Given the description of an element on the screen output the (x, y) to click on. 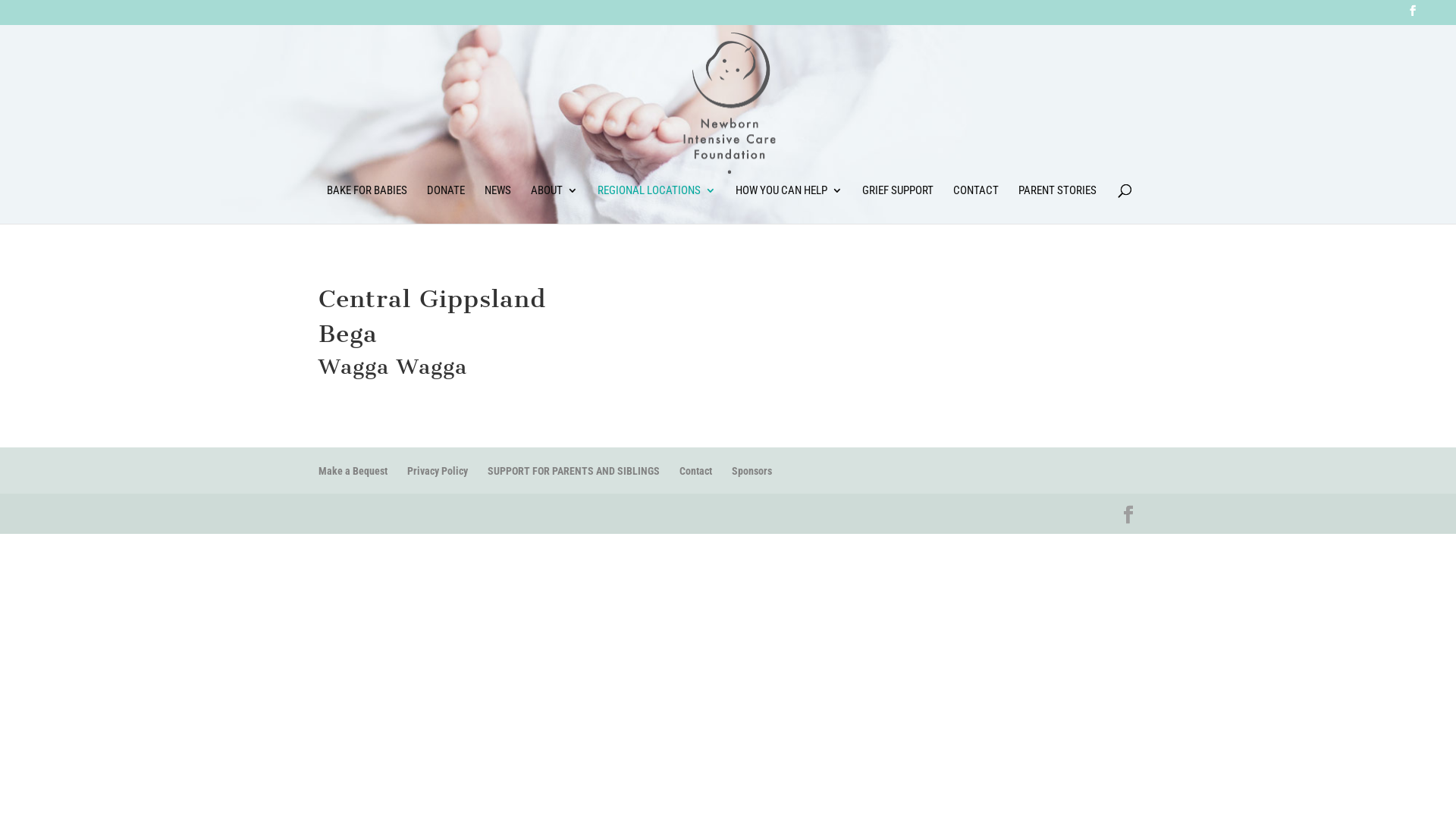
NEWS Element type: text (496, 204)
DONATE Element type: text (445, 204)
PARENT STORIES Element type: text (1056, 204)
SUPPORT FOR PARENTS AND SIBLINGS Element type: text (573, 470)
ABOUT Element type: text (553, 204)
Privacy Policy Element type: text (437, 470)
Make a Bequest Element type: text (352, 470)
REGIONAL LOCATIONS Element type: text (656, 204)
Wagga Wagga Element type: text (392, 365)
HOW YOU CAN HELP Element type: text (788, 204)
Bega Element type: text (347, 332)
GRIEF SUPPORT Element type: text (896, 204)
Central Gippsland Element type: text (432, 297)
BAKE FOR BABIES Element type: text (366, 204)
Sponsors Element type: text (751, 470)
Contact Element type: text (695, 470)
CONTACT Element type: text (974, 204)
